Given the description of an element on the screen output the (x, y) to click on. 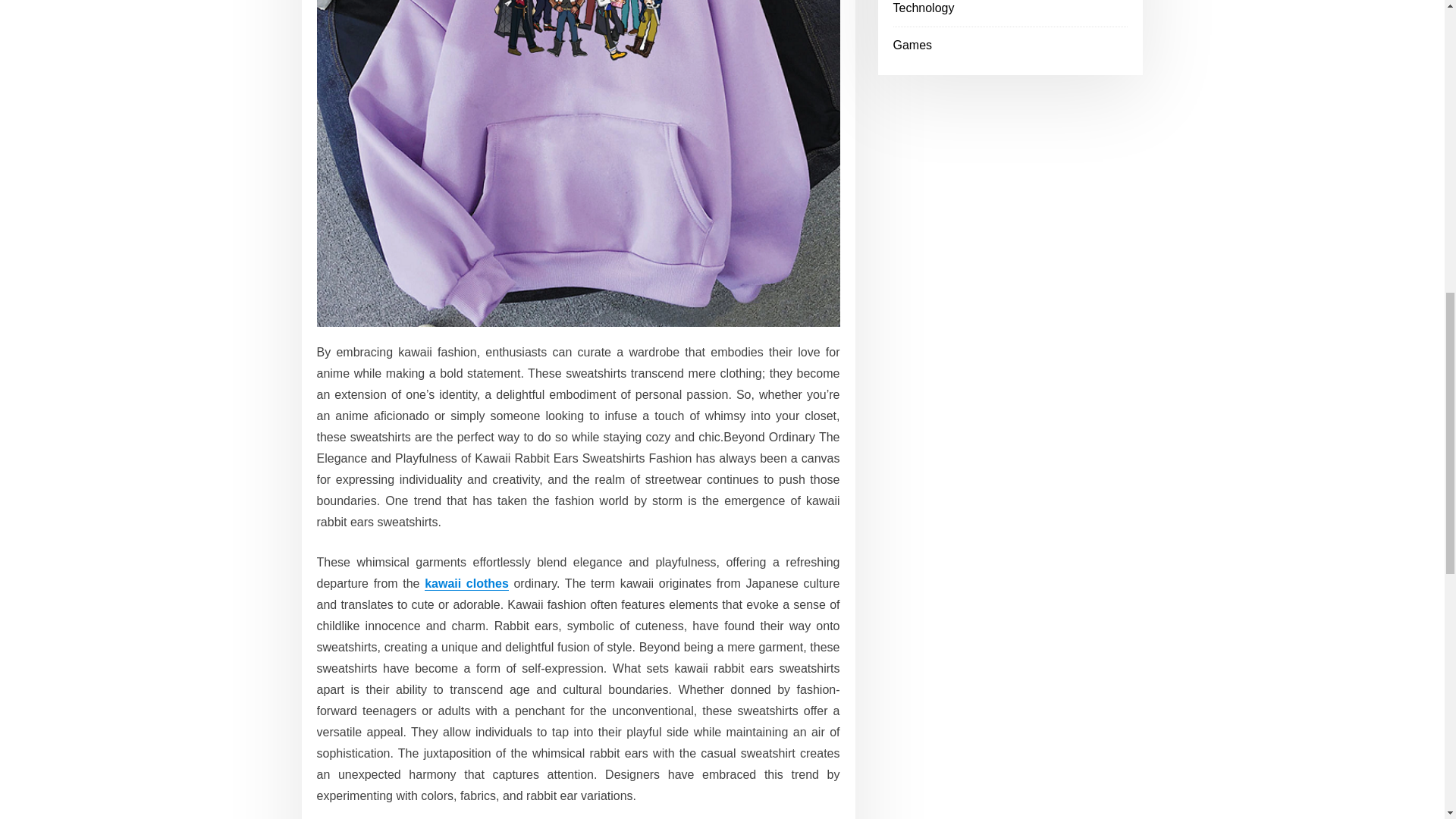
kawaii clothes (466, 583)
Games (913, 44)
Technology (924, 7)
